Given the description of an element on the screen output the (x, y) to click on. 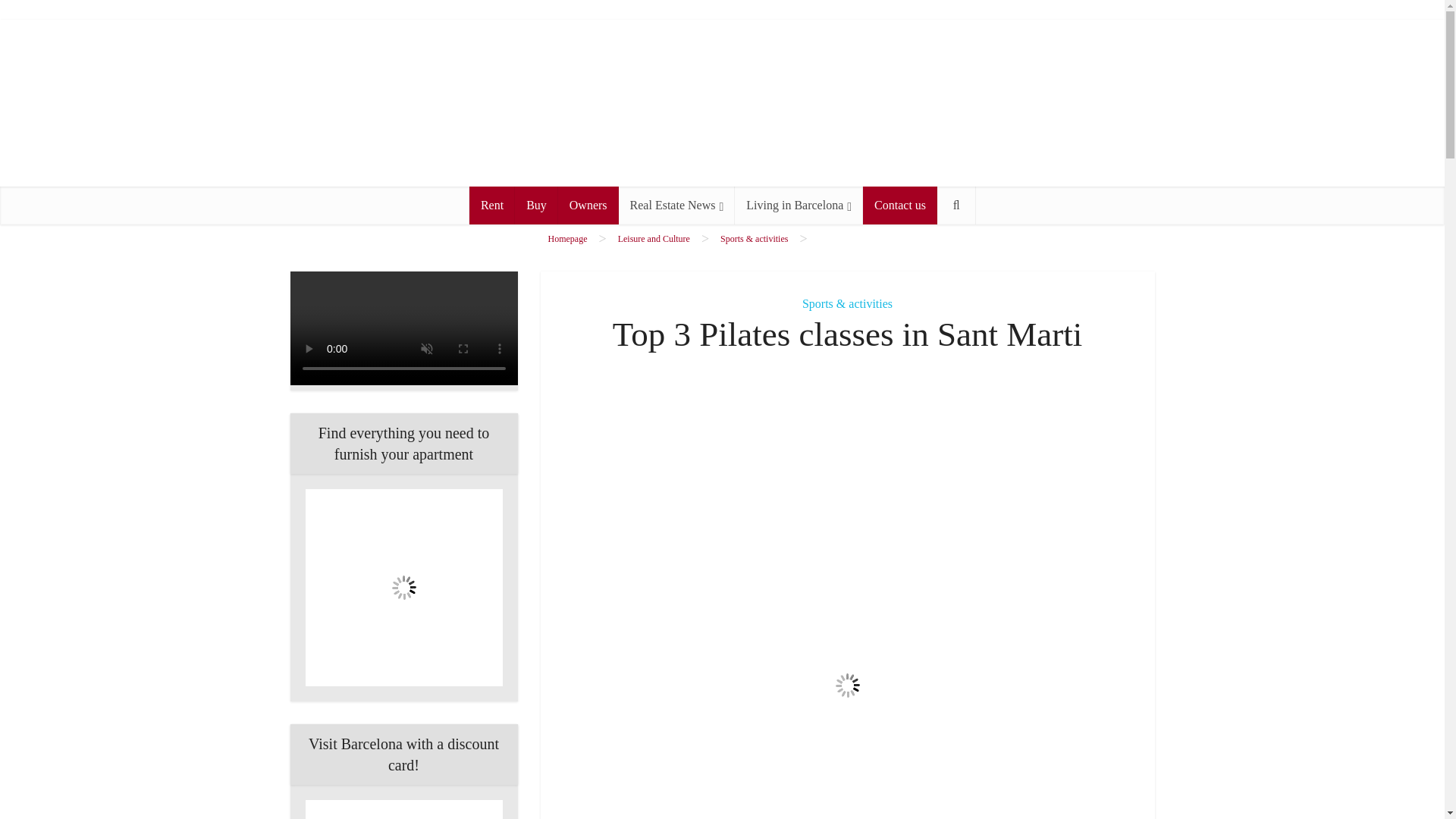
Real Estate News (676, 205)
Living in Barcelona (799, 205)
Contact us (900, 205)
Homepage (566, 238)
Homepage (566, 238)
Buy (536, 205)
Barcelona City Pass (403, 809)
Leisure and Culture (653, 238)
Owners (587, 205)
Rent (491, 205)
